Given the description of an element on the screen output the (x, y) to click on. 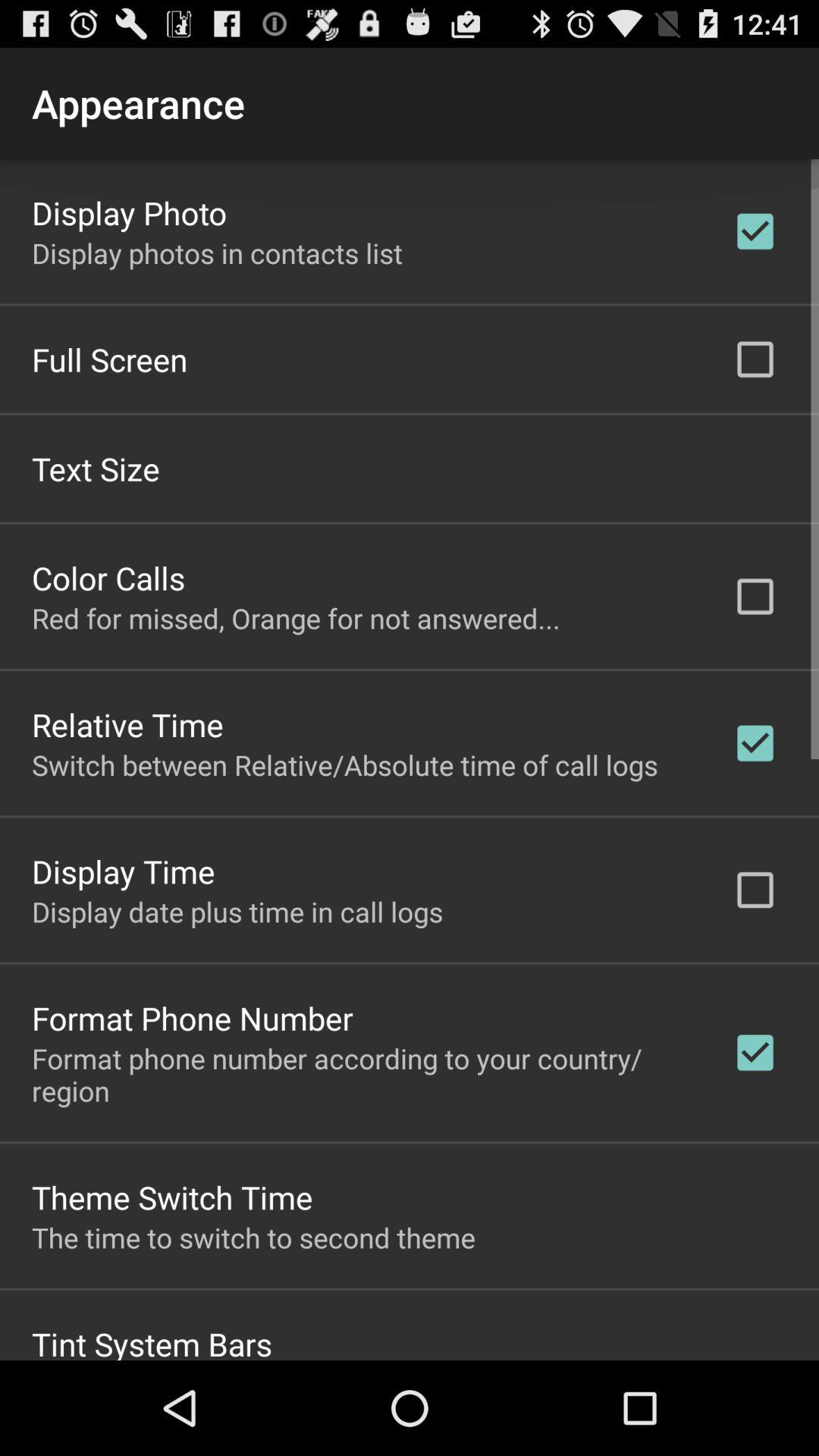
select app below relative time app (344, 764)
